Given the description of an element on the screen output the (x, y) to click on. 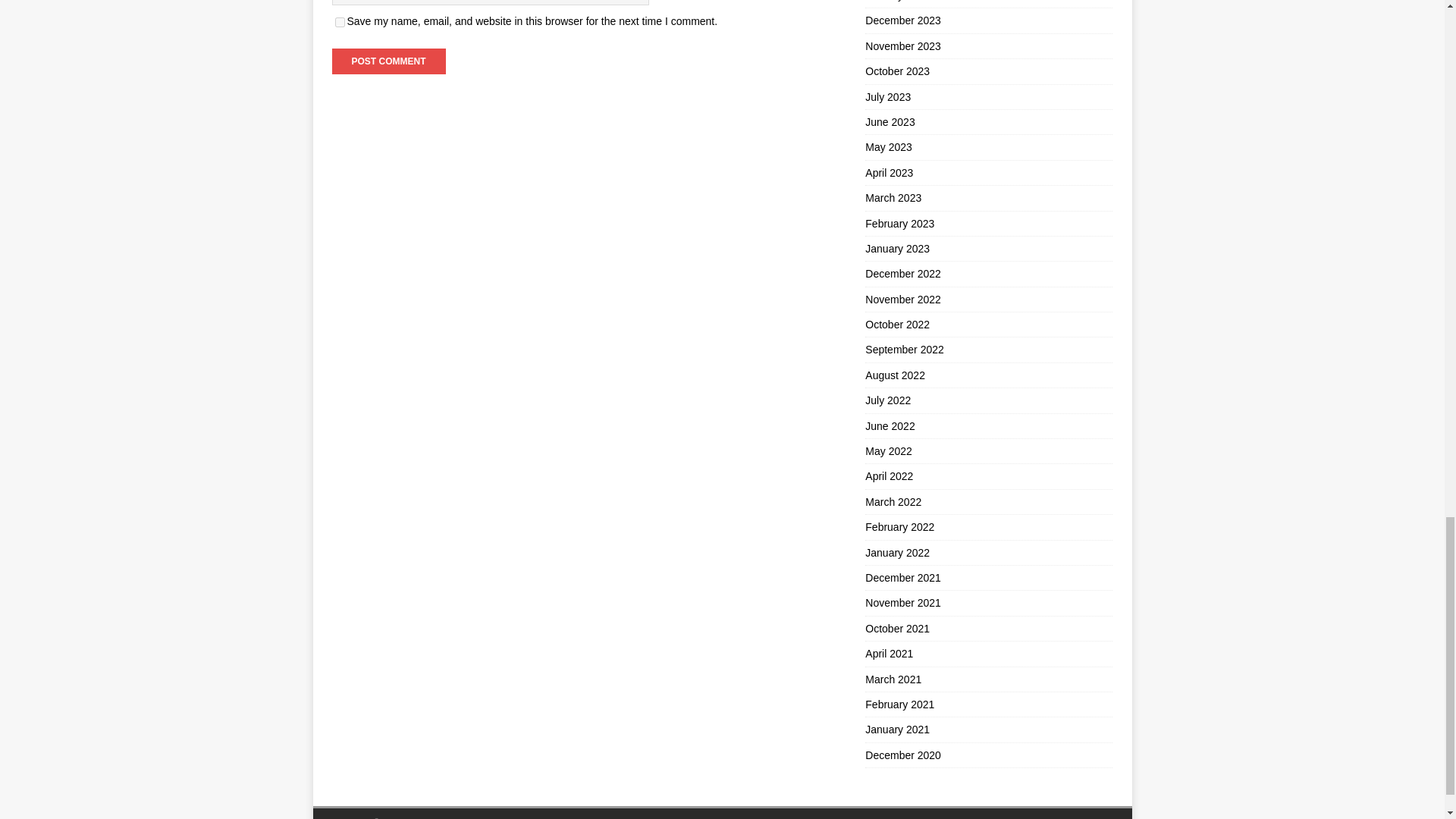
Post Comment (388, 61)
Post Comment (388, 61)
yes (339, 22)
